Given the description of an element on the screen output the (x, y) to click on. 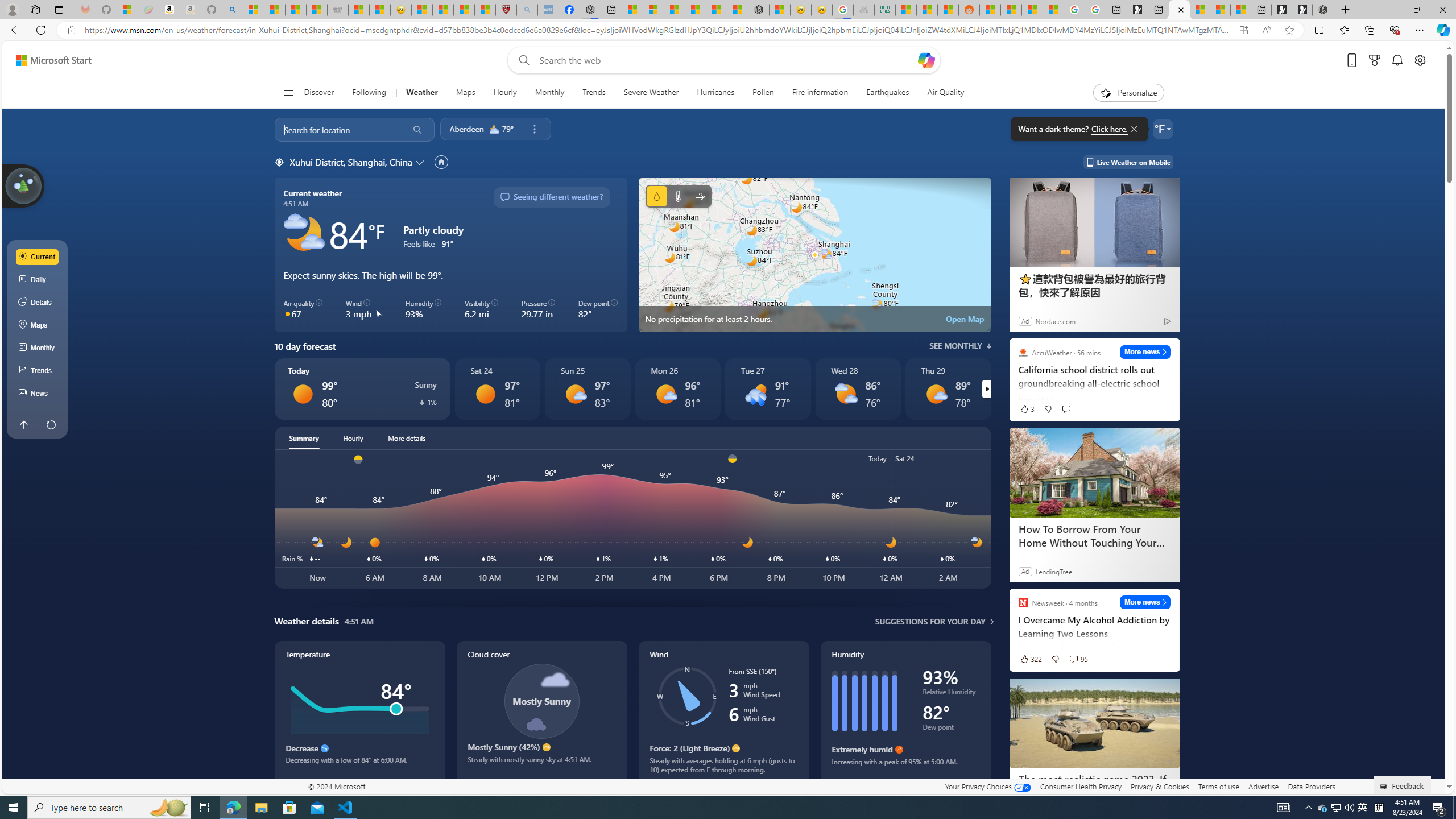
Trends (37, 370)
More details (406, 437)
Data Providers (1311, 785)
Nordace - Nordace Siena Is Not An Ordinary Backpack (1322, 9)
Feedback (1402, 784)
App bar (728, 29)
Pollen (763, 92)
Personalize (1128, 92)
News (37, 393)
Summary (303, 437)
Robert H. Shmerling, MD - Harvard Health (505, 9)
Maps (465, 92)
Discover (323, 92)
